Given the description of an element on the screen output the (x, y) to click on. 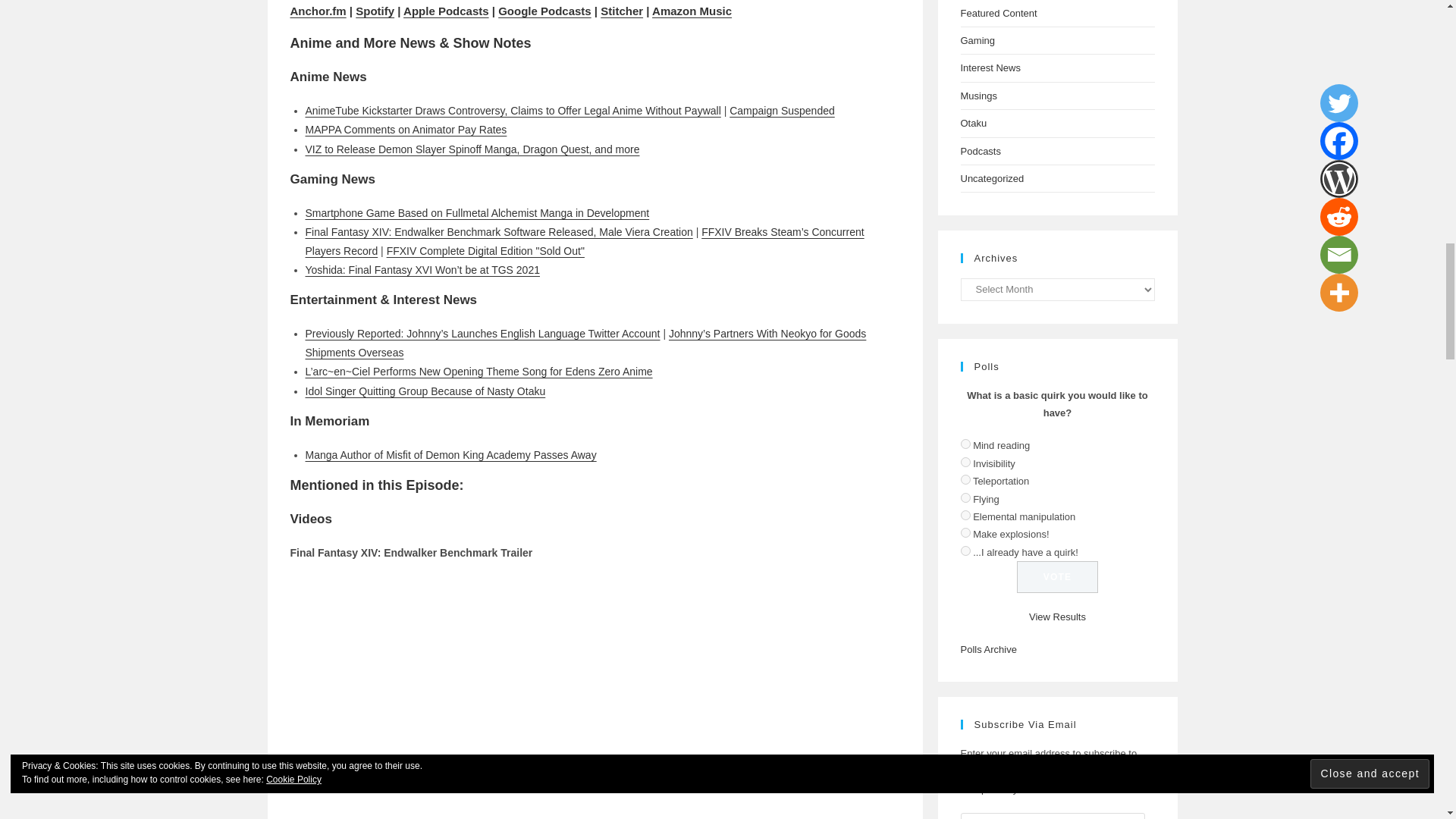
18 (964, 443)
22 (964, 515)
19 (964, 461)
20 (964, 479)
24 (964, 551)
23 (964, 532)
21 (964, 497)
   Vote    (1056, 576)
